Given the description of an element on the screen output the (x, y) to click on. 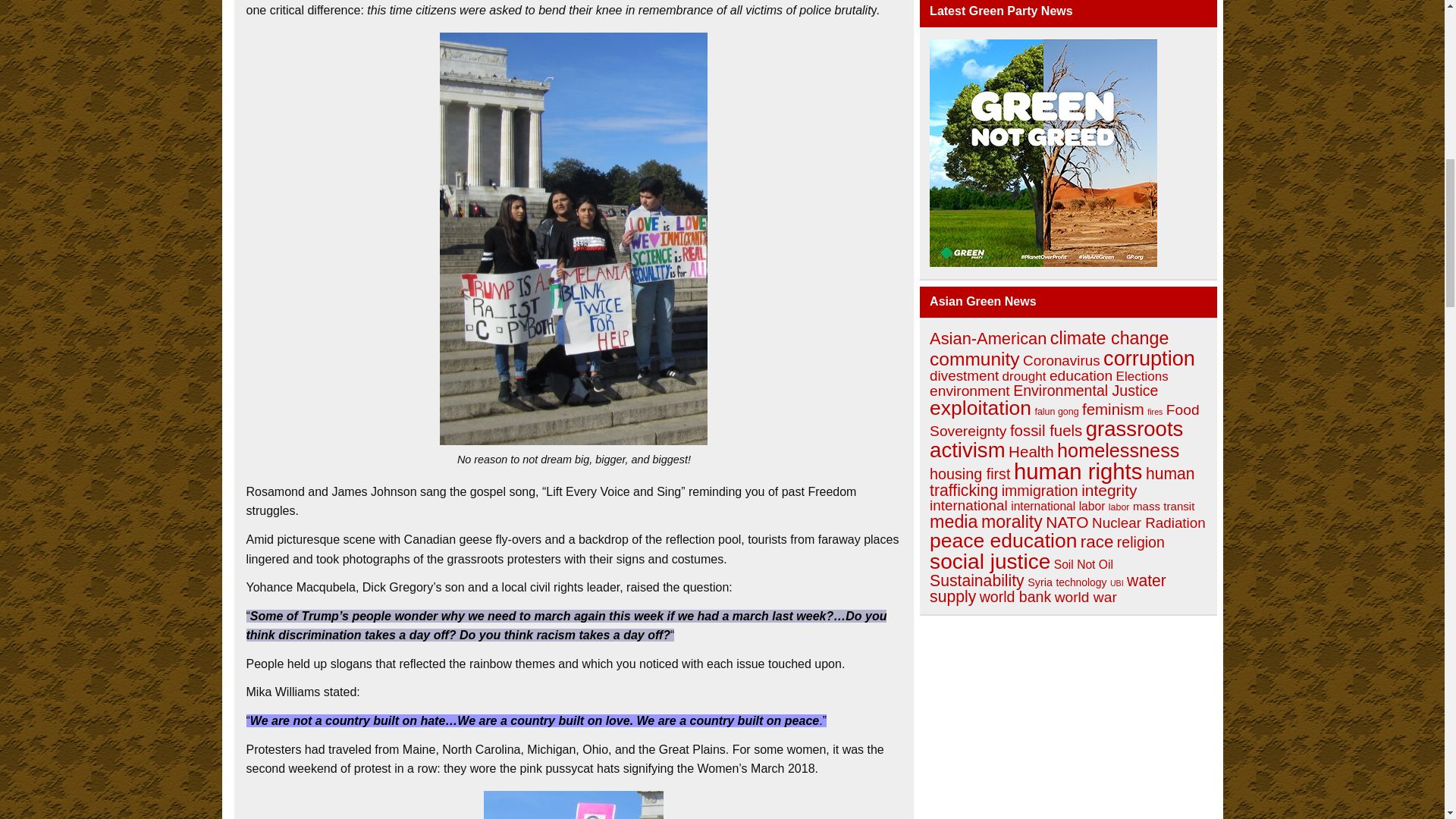
Latest Green Party News (1043, 262)
